Given the description of an element on the screen output the (x, y) to click on. 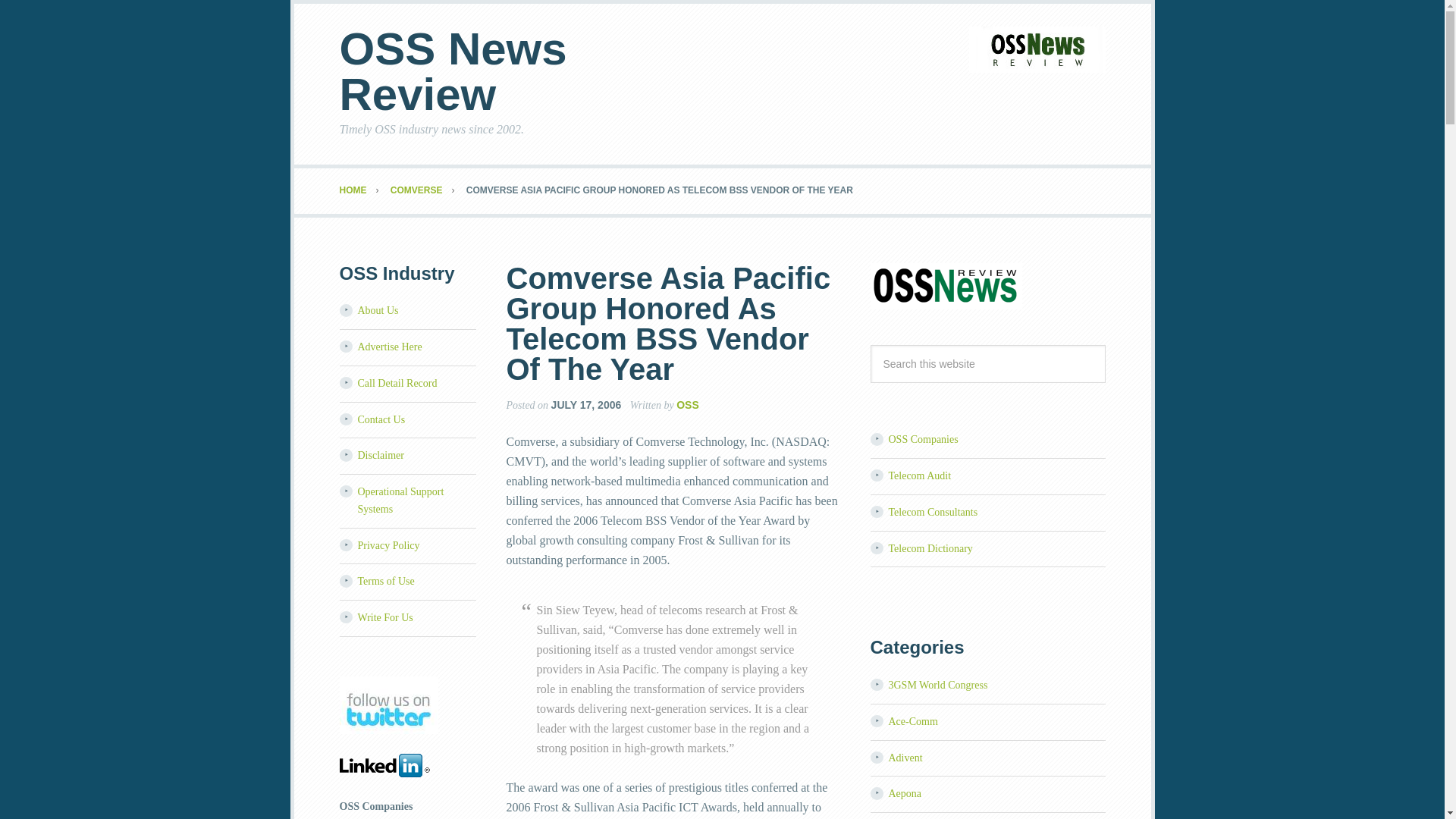
Aepona (904, 793)
Telecom Consultants (933, 511)
Ace-Comm (912, 721)
OSS (687, 404)
3GSM World Congress (938, 685)
COMVERSE (427, 190)
Telecom Dictionary (930, 548)
OSS News Review (453, 71)
HOME (363, 190)
Telecom Audit (920, 475)
OSS Companies (923, 439)
Adivent (905, 757)
